Given the description of an element on the screen output the (x, y) to click on. 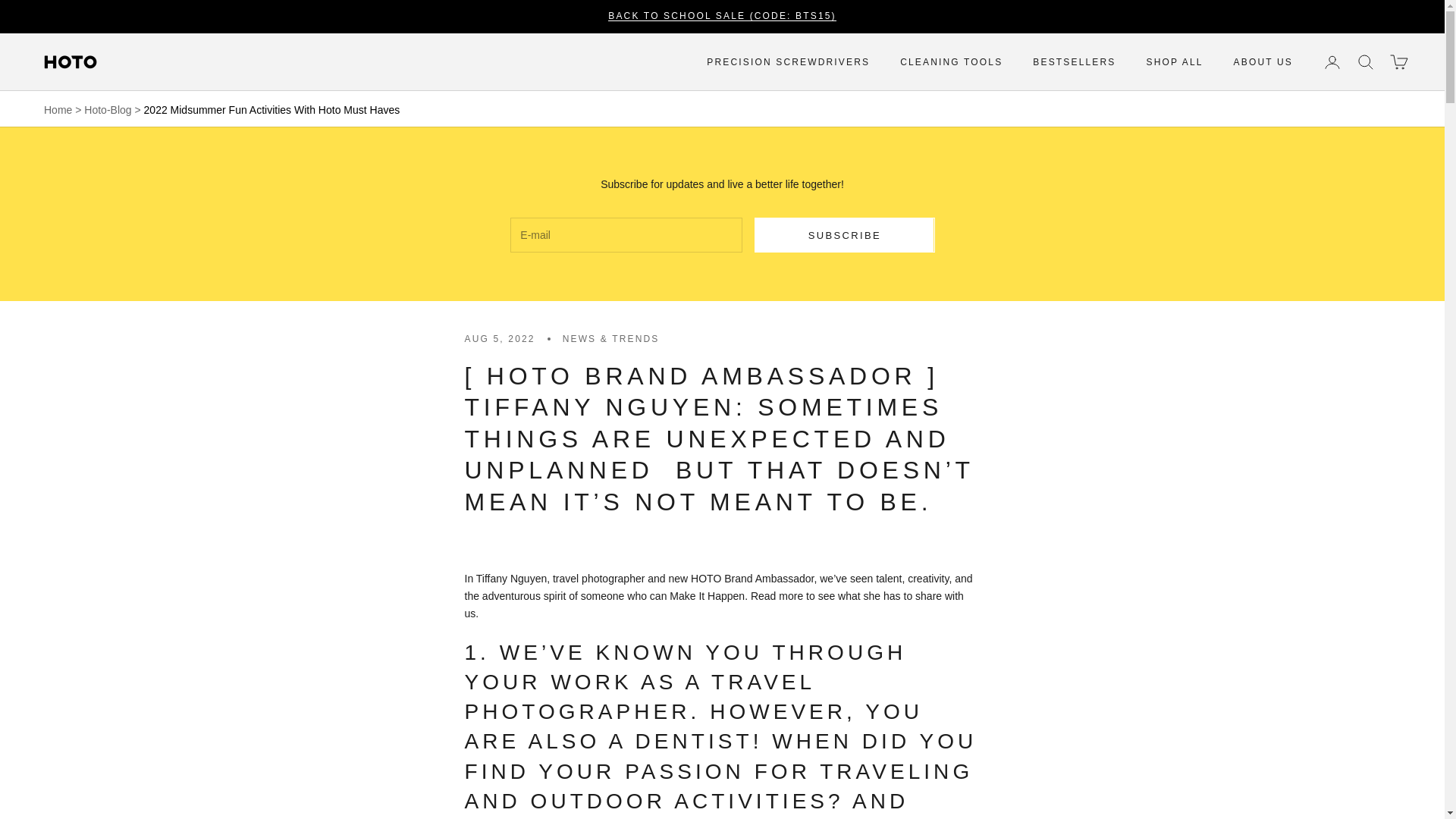
Open cart (1398, 62)
Back to School Sale (721, 15)
Open search (1365, 62)
Home (57, 110)
ABOUT US (1262, 61)
Hototools (70, 61)
BESTSELLERS (1073, 61)
CLEANING TOOLS (951, 61)
PRECISION SCREWDRIVERS (787, 61)
Open account page (1331, 62)
